Given the description of an element on the screen output the (x, y) to click on. 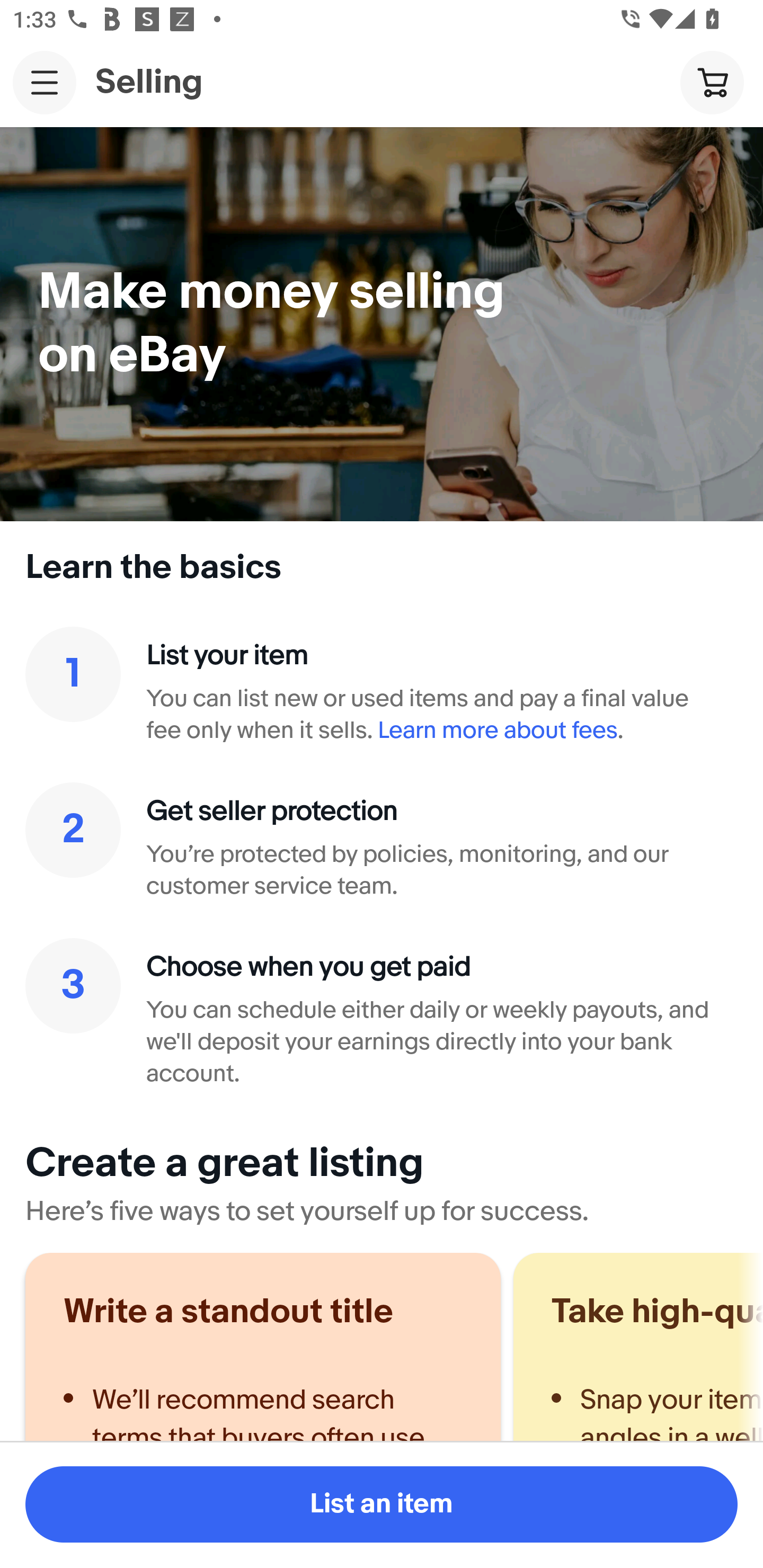
Main navigation, open (44, 82)
Cart button shopping cart (711, 81)
List an item (381, 1504)
